Given the description of an element on the screen output the (x, y) to click on. 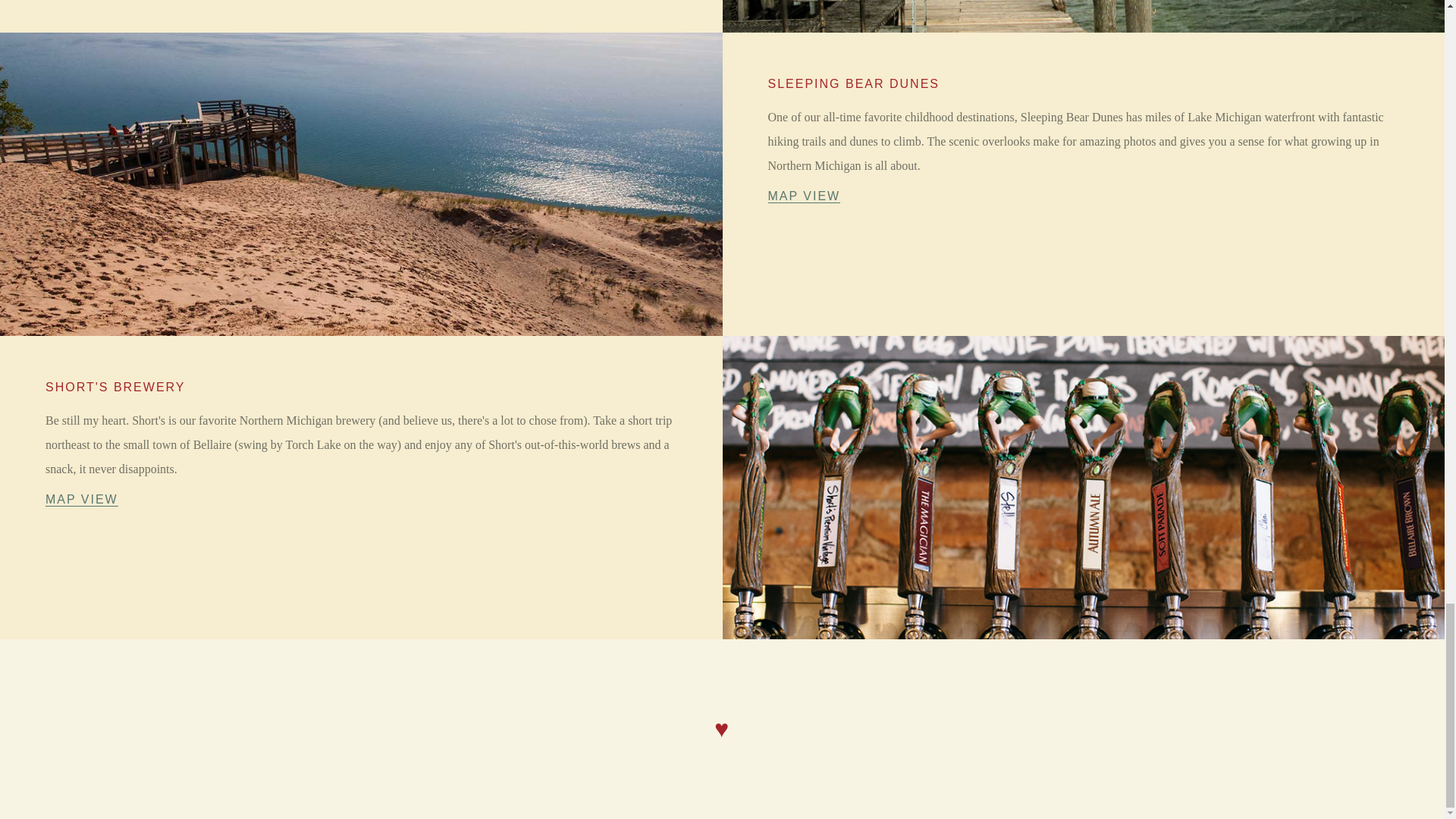
MAP VIEW (803, 196)
MAP VIEW (81, 499)
